Given the description of an element on the screen output the (x, y) to click on. 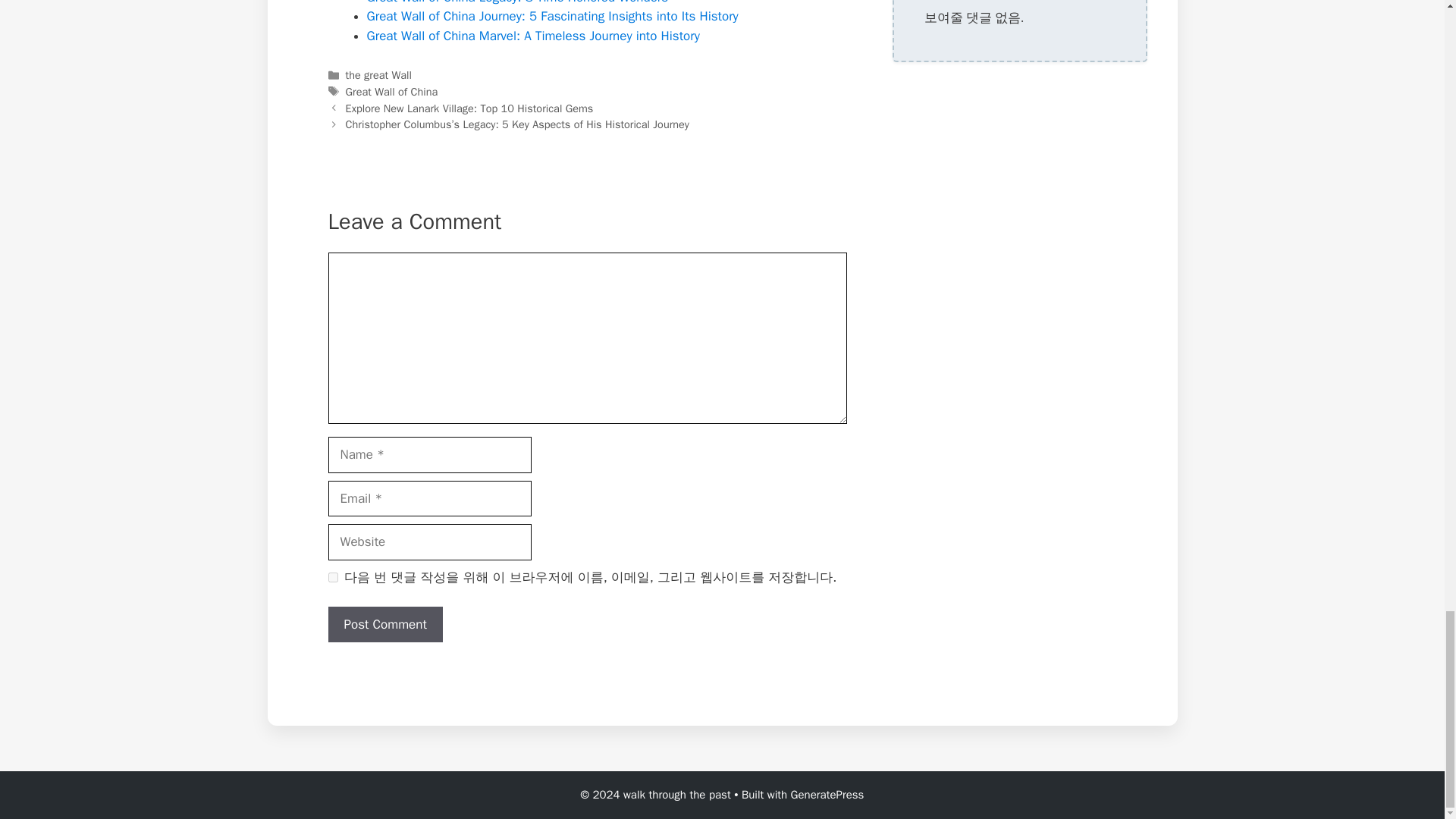
yes (332, 577)
Great Wall of China Marvel: A Timeless Journey into History (533, 35)
Post Comment (384, 624)
Great Wall of China (392, 91)
the great Wall (379, 74)
Great Wall of China Legacy: 8 Time-Honored Wonders (517, 2)
Explore New Lanark Village: Top 10 Historical Gems (470, 108)
Post Comment (384, 624)
